Given the description of an element on the screen output the (x, y) to click on. 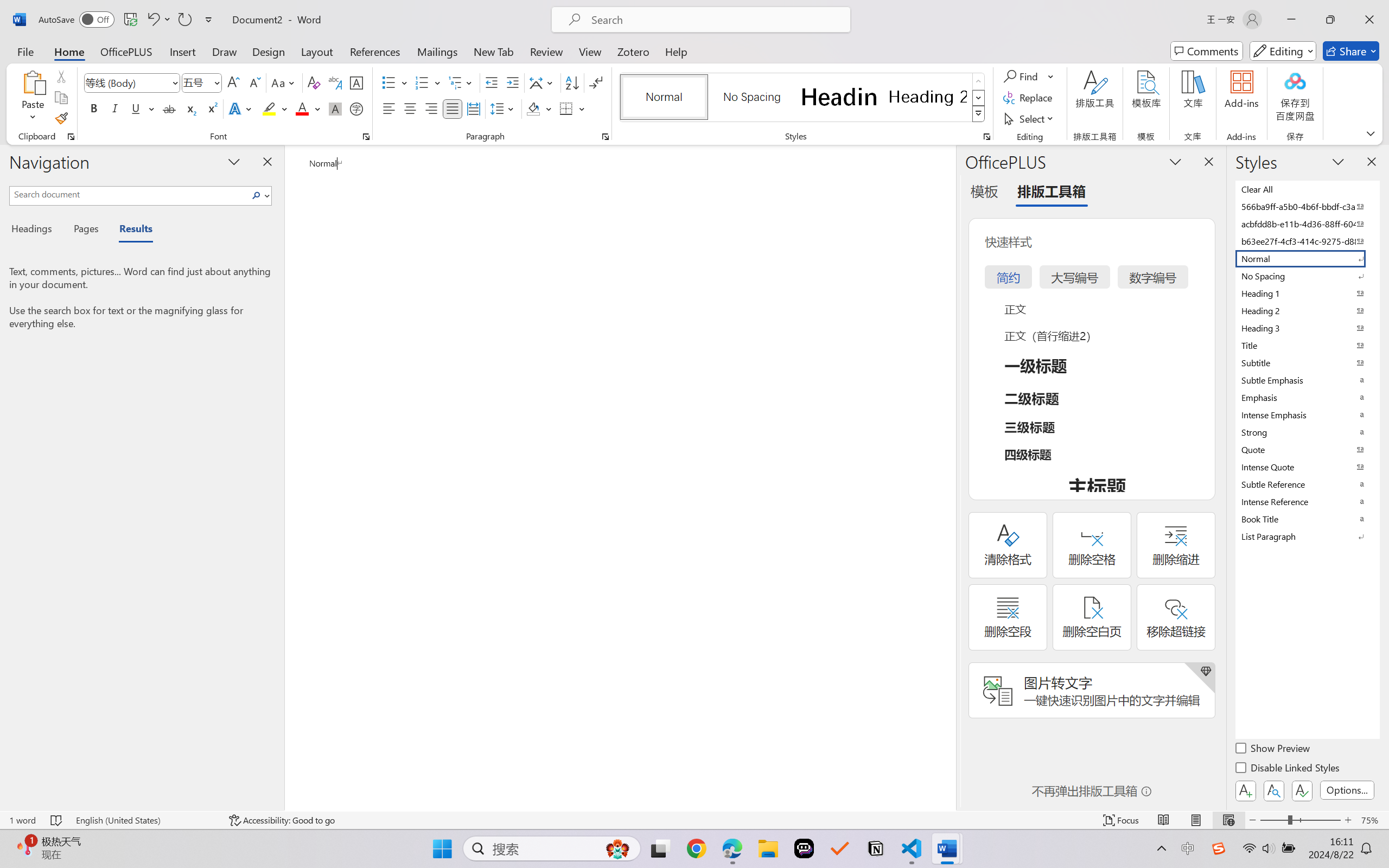
Copy (60, 97)
Task Pane Options (1175, 161)
Increase Indent (512, 82)
Options... (1346, 789)
Heading 3 (1306, 327)
AutomationID: BadgeAnchorLargeTicker (24, 847)
Subscript (190, 108)
Enclose Characters... (356, 108)
Shading RGB(0, 0, 0) (533, 108)
Subtitle (1306, 362)
Character Border (356, 82)
